Given the description of an element on the screen output the (x, y) to click on. 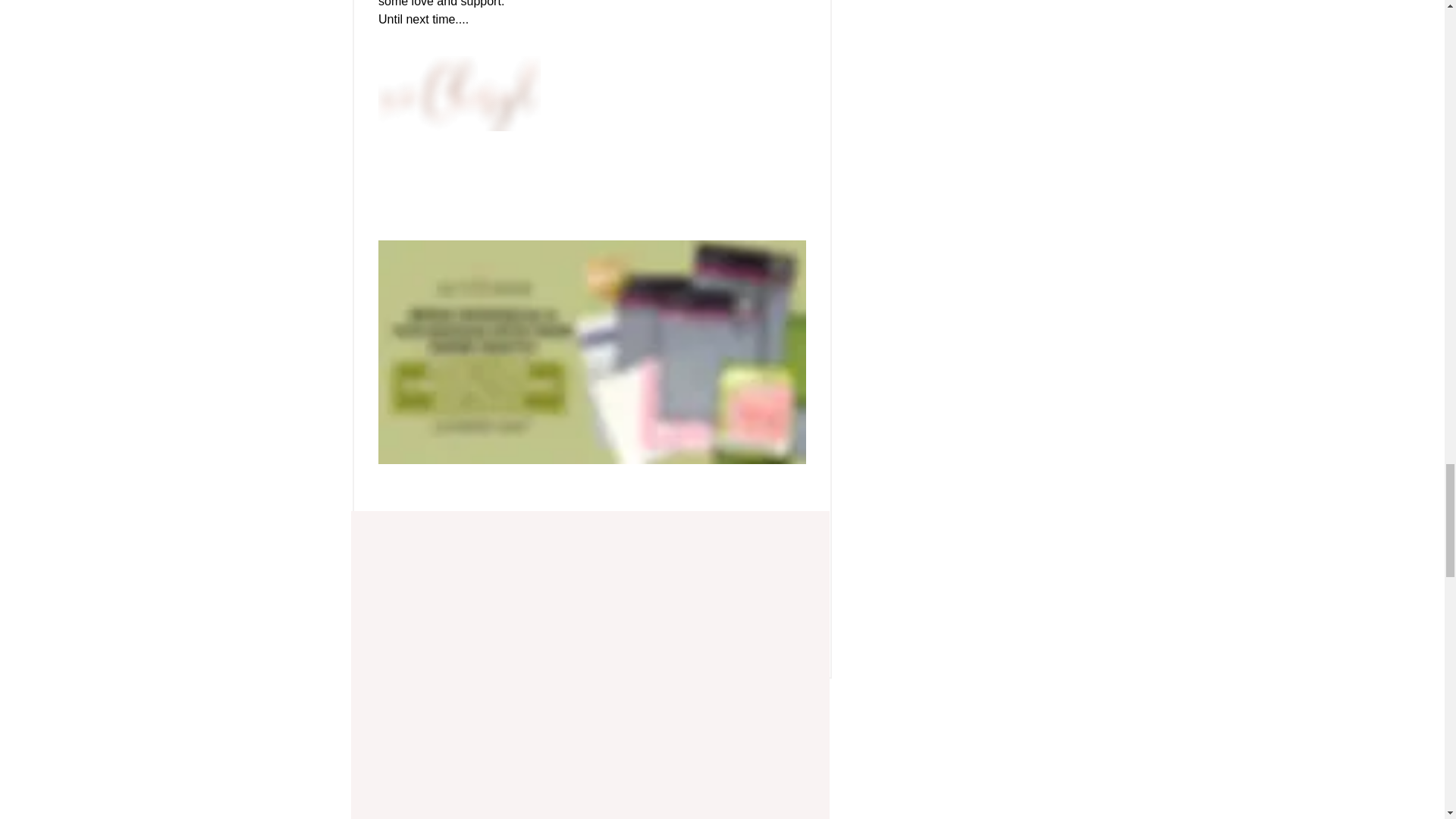
Guest Designing (429, 534)
Embossing Folders (436, 569)
Altenew (787, 629)
Blog Hops (707, 534)
Cards 2022 (528, 534)
New Release (619, 534)
